Given the description of an element on the screen output the (x, y) to click on. 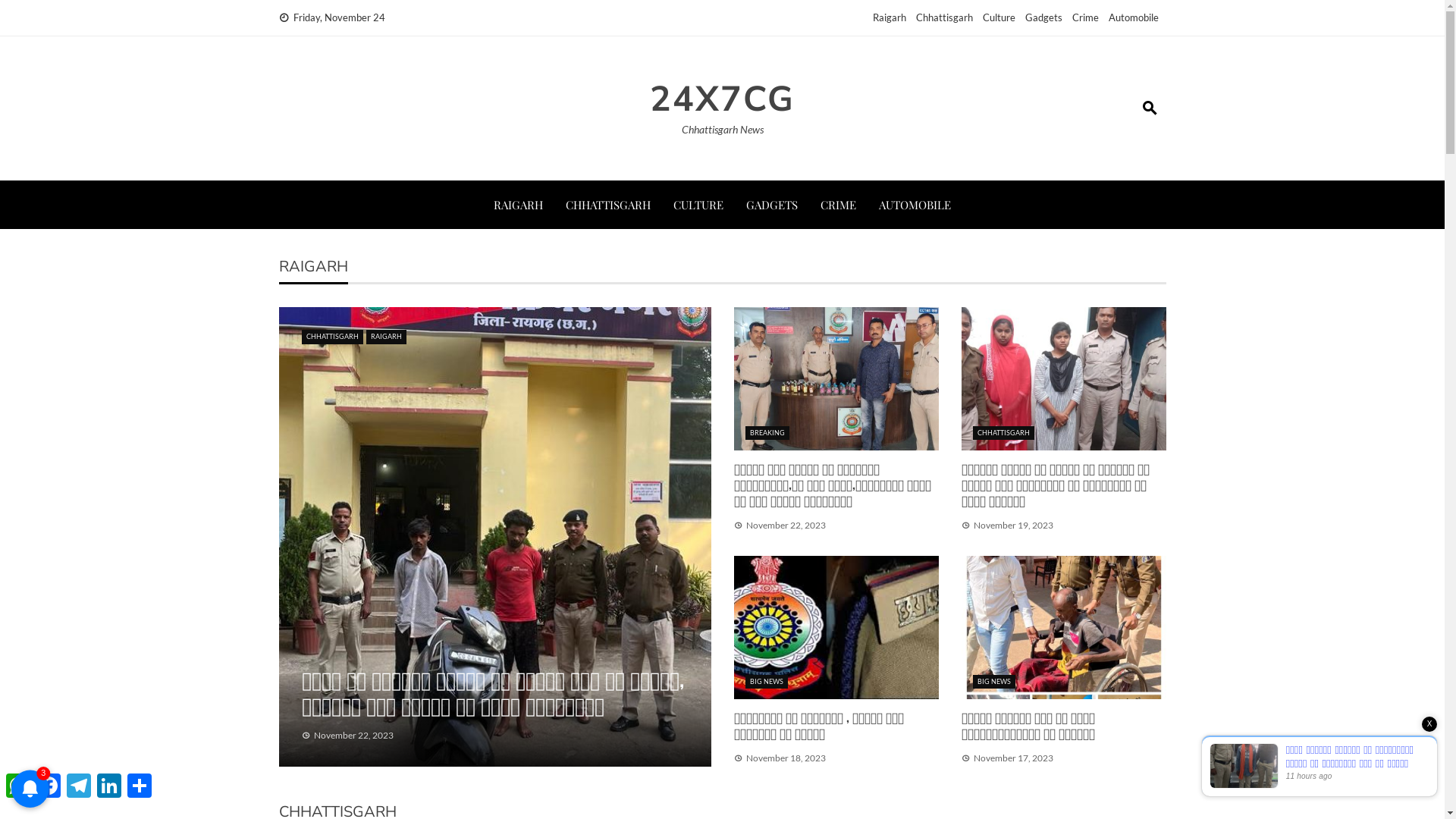
LinkedIn Element type: text (109, 785)
CRIME Element type: text (838, 204)
Gadgets Element type: text (1043, 17)
CHHATTISGARH Element type: text (1002, 433)
GADGETS Element type: text (771, 204)
BREAKING Element type: text (766, 433)
AUTOMOBILE Element type: text (914, 204)
Chhattisgarh Element type: text (944, 17)
CHHATTISGARH Element type: text (607, 204)
Crime Element type: text (1085, 17)
RAIGARH Element type: text (385, 336)
24X7CG Element type: text (721, 98)
Facebook Element type: text (48, 785)
Share Element type: text (139, 785)
 Webpushr Element type: text (30, 765)
BIG NEWS Element type: text (765, 681)
RAIGARH Element type: text (517, 204)
Automobile Element type: text (1133, 17)
Telegram Element type: text (78, 785)
WhatsApp Element type: text (18, 785)
Chhattisgarh News Element type: text (721, 128)
CULTURE Element type: text (698, 204)
Raigarh Element type: text (888, 17)
BIG NEWS Element type: text (993, 681)
Culture Element type: text (998, 17)
CHHATTISGARH Element type: text (332, 336)
